Given the description of an element on the screen output the (x, y) to click on. 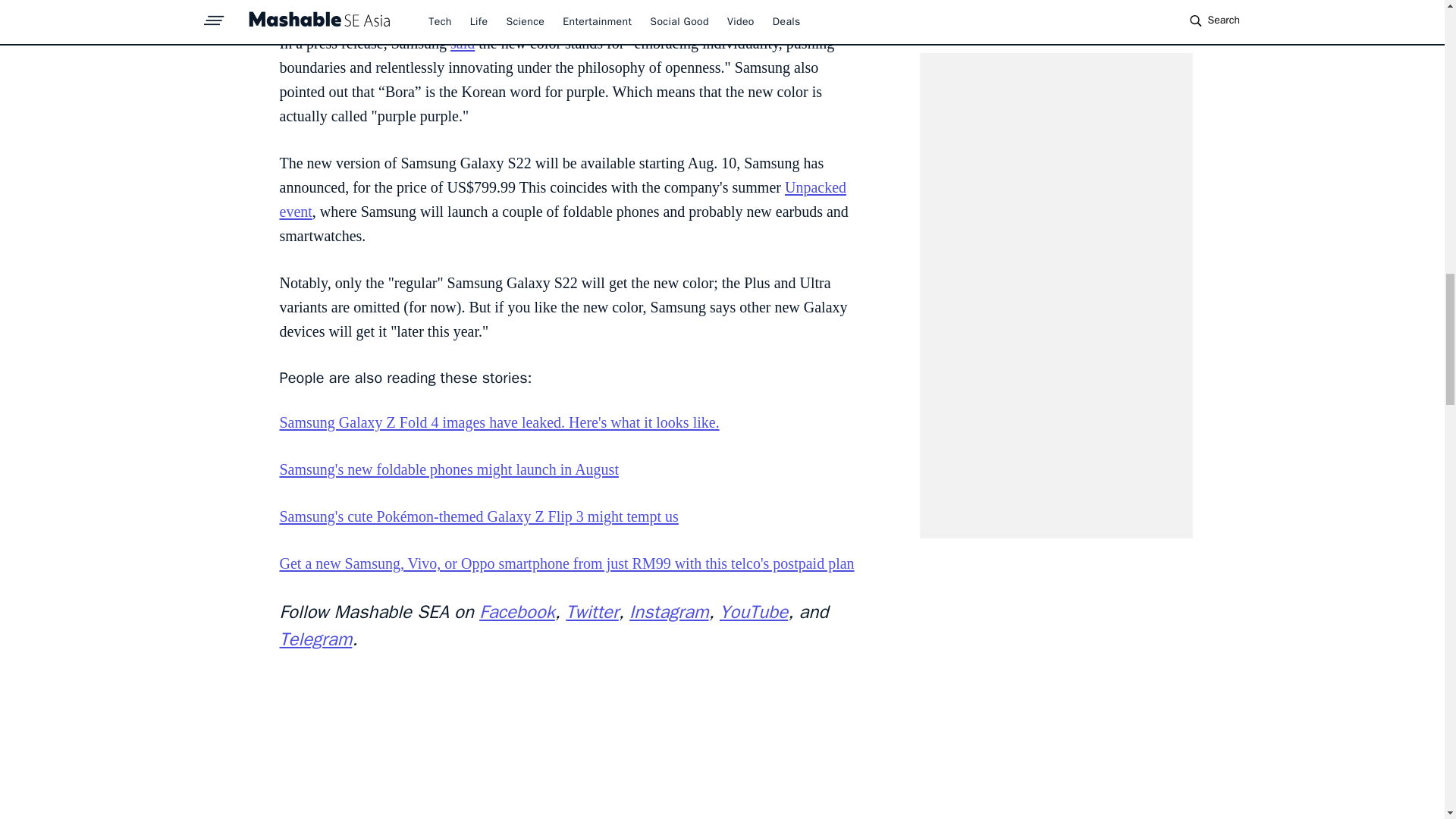
Twitter (592, 611)
Telegram (315, 639)
YouTube (753, 611)
said (461, 43)
Facebook (516, 611)
Unpacked event (562, 199)
Samsung's new foldable phones might launch in August (448, 469)
Instagram (668, 611)
